Given the description of an element on the screen output the (x, y) to click on. 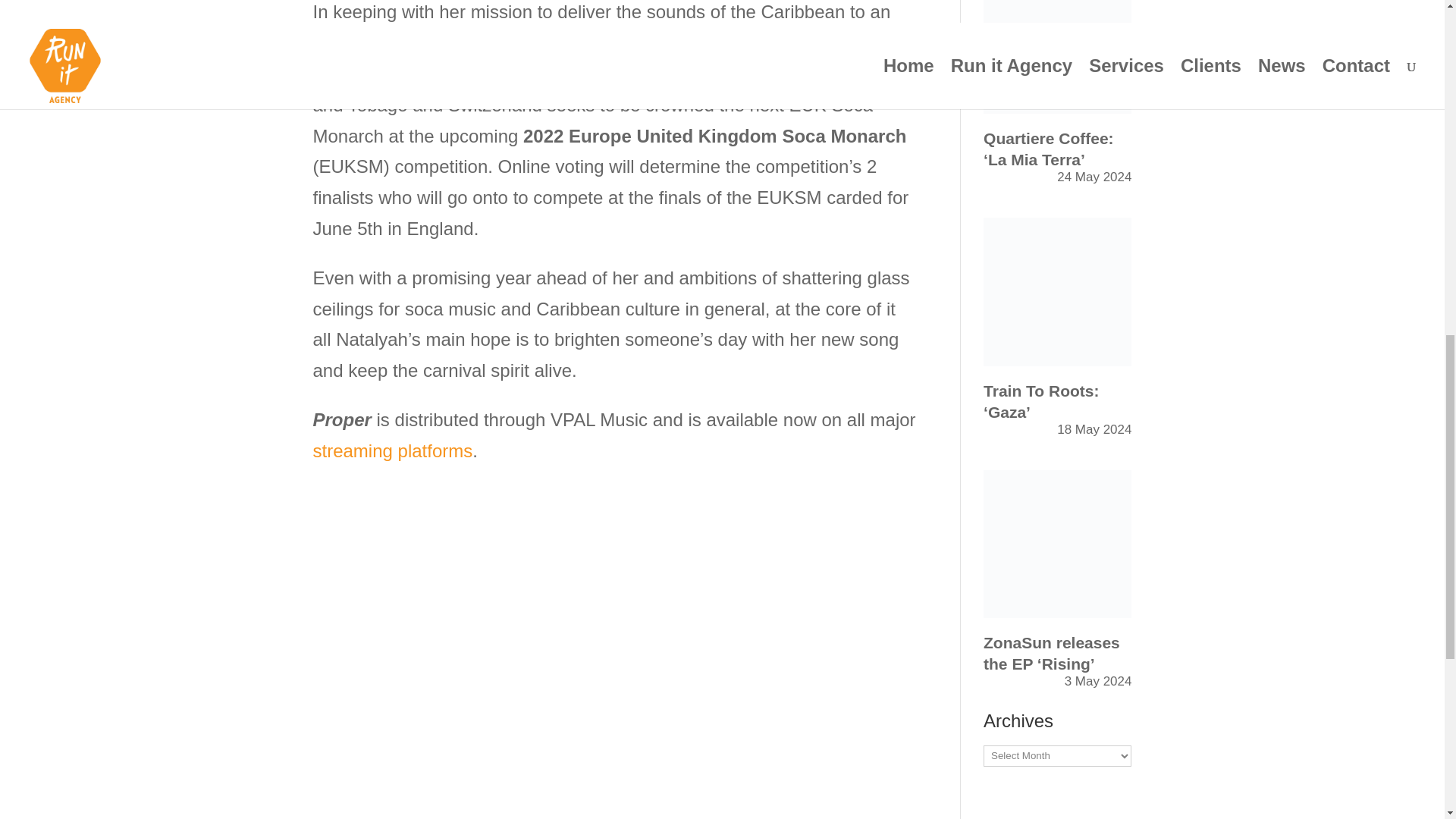
streaming platforms (392, 450)
